Given the description of an element on the screen output the (x, y) to click on. 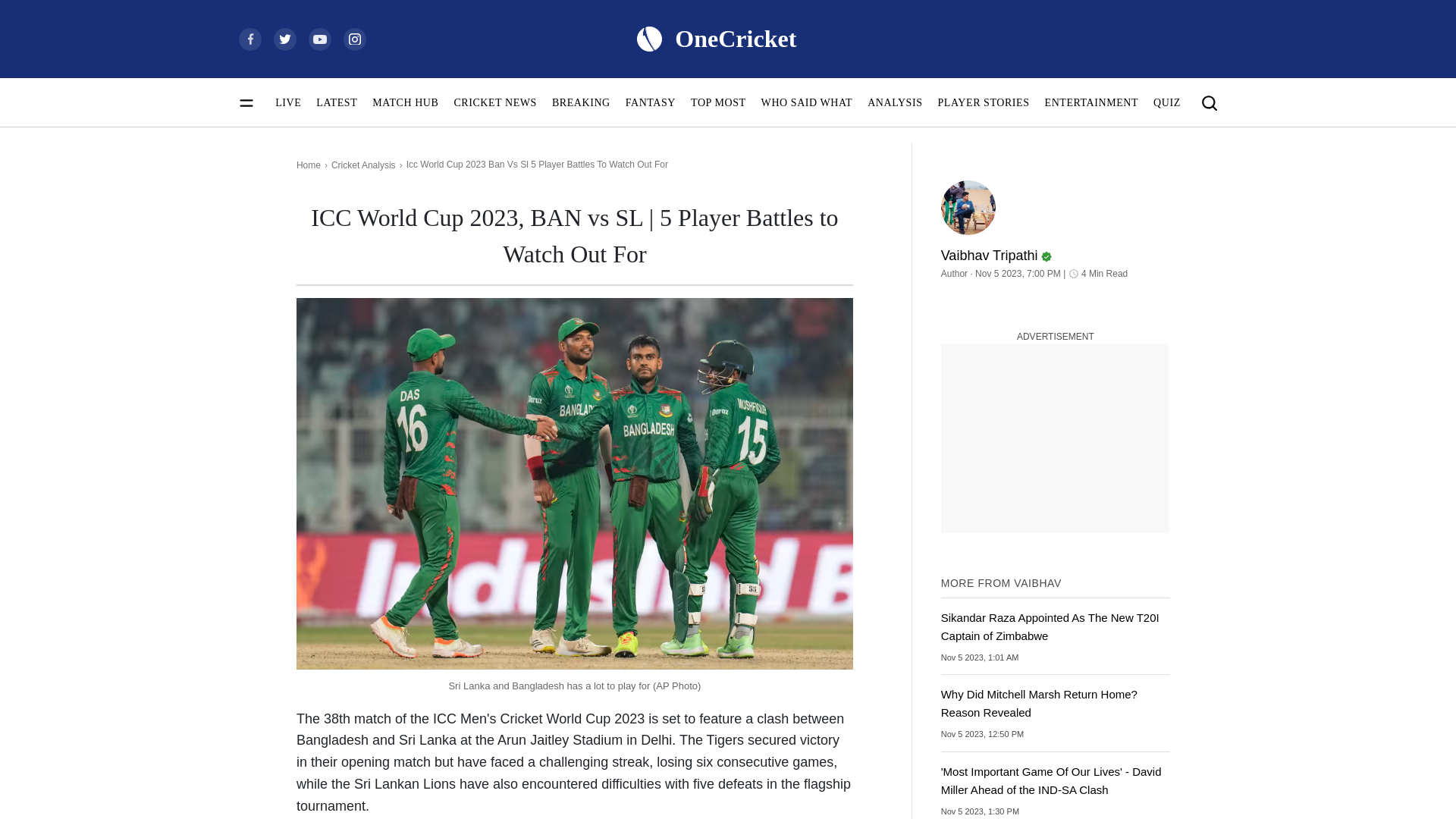
MATCH HUB (405, 102)
WHO SAID WHAT (807, 102)
LATEST (335, 102)
LIVE (288, 102)
FANTASY (650, 102)
ENTERTAINMENT (1091, 102)
TOP MOST (717, 102)
CRICKET NEWS (494, 102)
ANALYSIS (894, 102)
Home (308, 164)
OneCricket (715, 38)
QUIZ (1166, 102)
BREAKING (580, 102)
PLAYER STORIES (983, 102)
Cricket Analysis (363, 164)
